Given the description of an element on the screen output the (x, y) to click on. 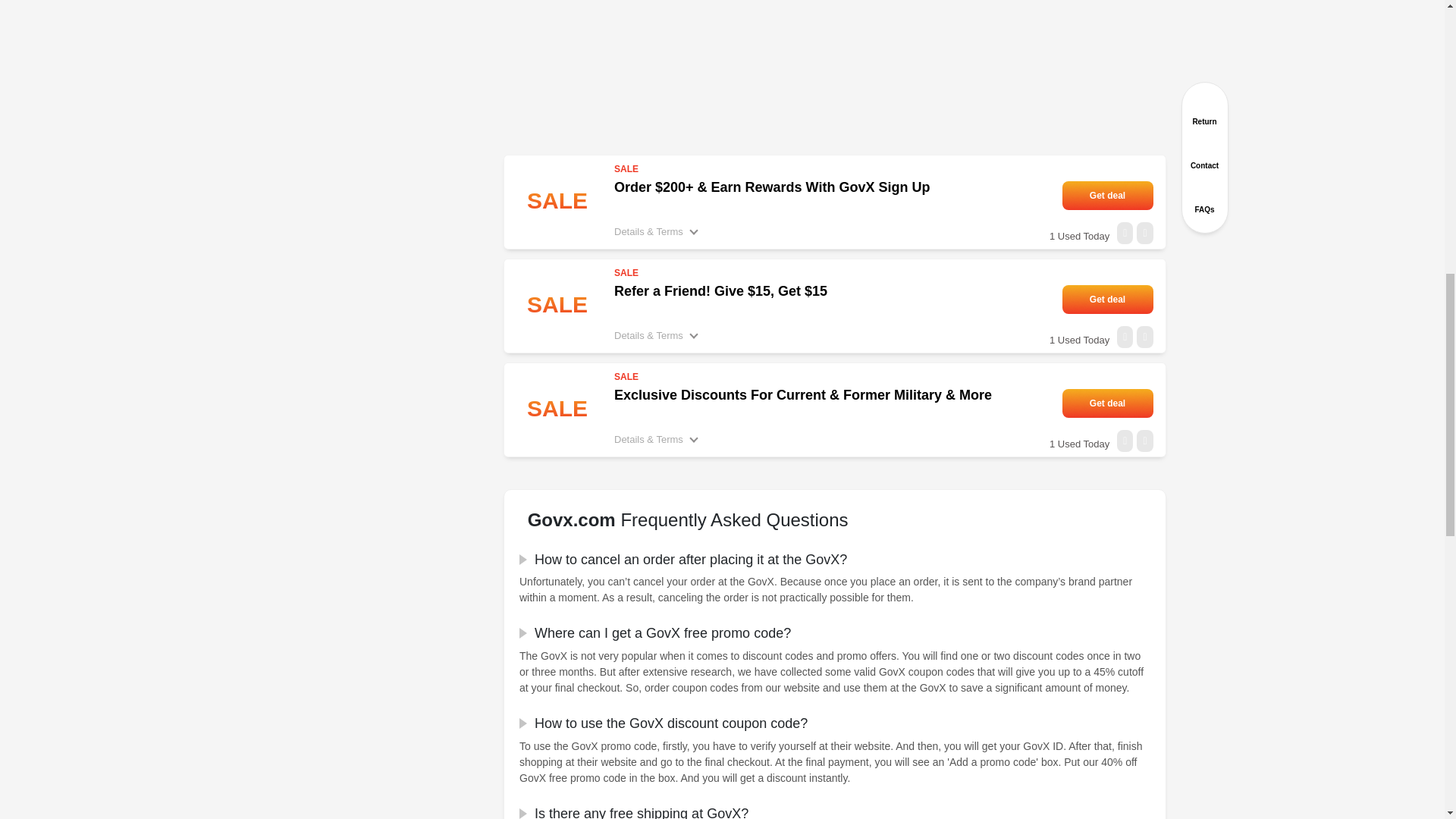
Advertisement (834, 73)
